Given the description of an element on the screen output the (x, y) to click on. 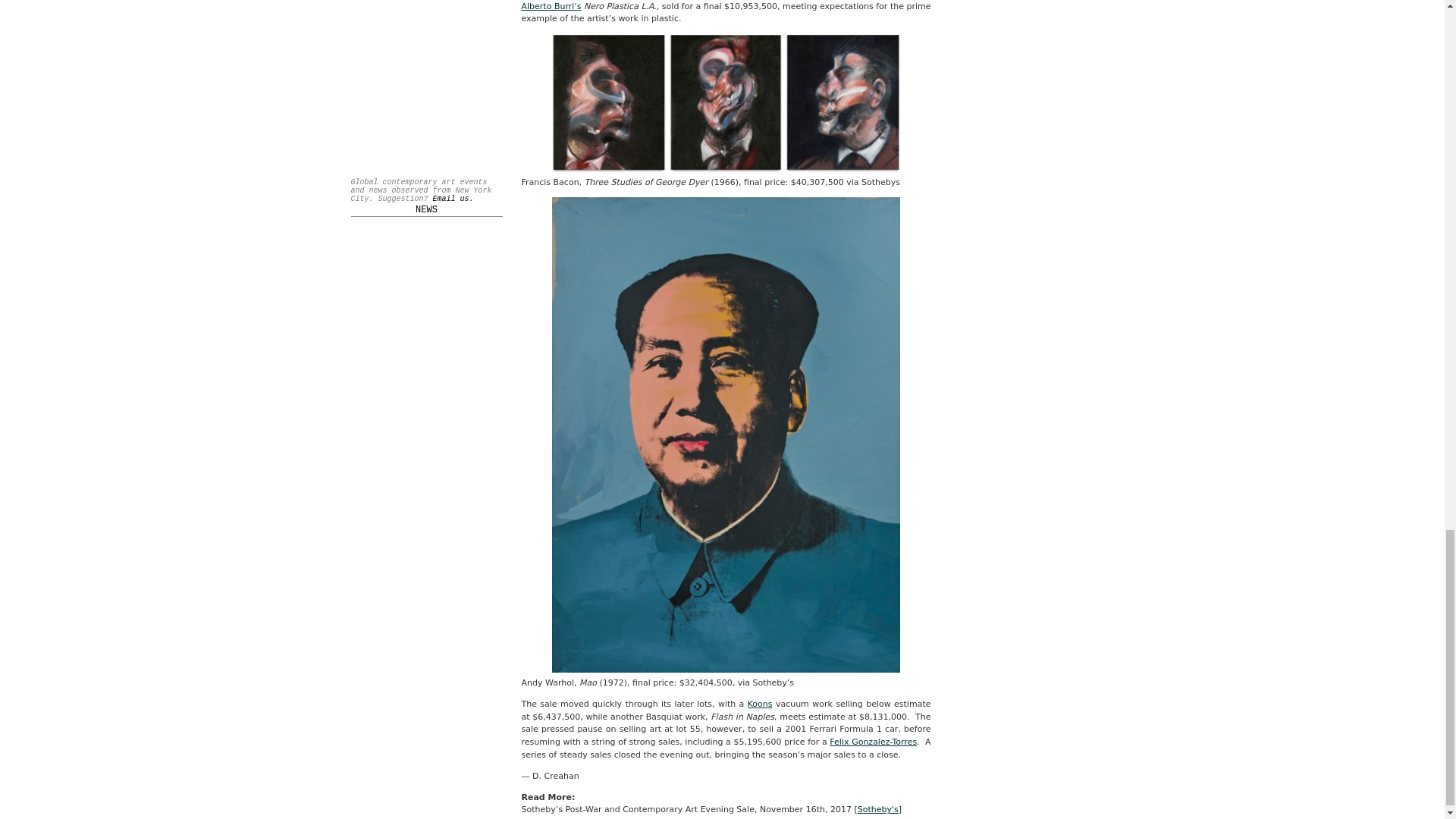
Felix Gonzalez-Torres (873, 741)
Sotheby's (877, 809)
Koons (760, 704)
